Given the description of an element on the screen output the (x, y) to click on. 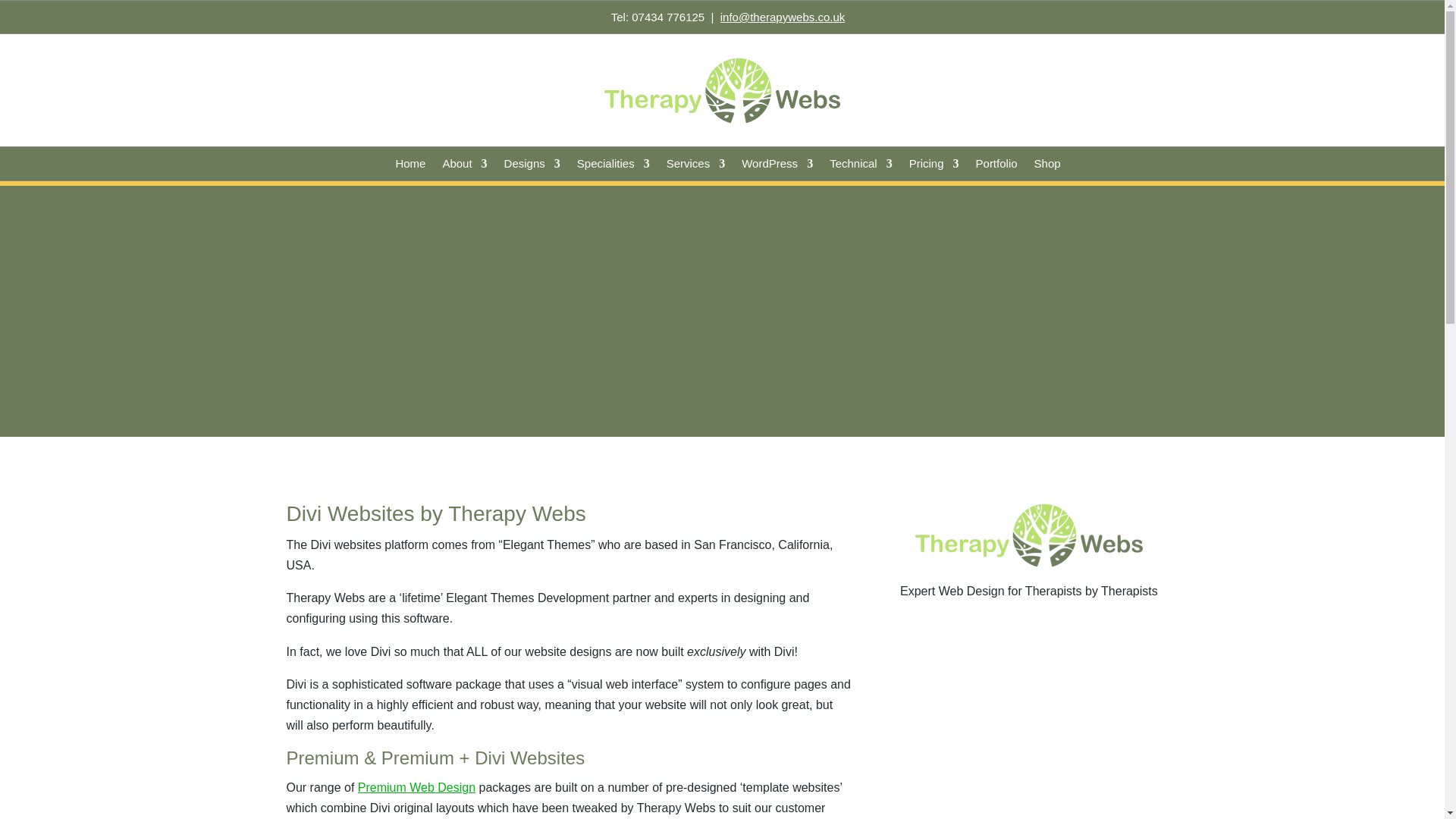
WordPress (776, 166)
Technical (860, 166)
Pricing (933, 166)
Home (409, 166)
Premium Web Design (417, 787)
Designs (531, 166)
Portfolio (996, 166)
Shop (1047, 166)
Specialities (612, 166)
About (464, 166)
Services (695, 166)
Send an enquiry to Therapy Webs HQ (782, 16)
